Given the description of an element on the screen output the (x, y) to click on. 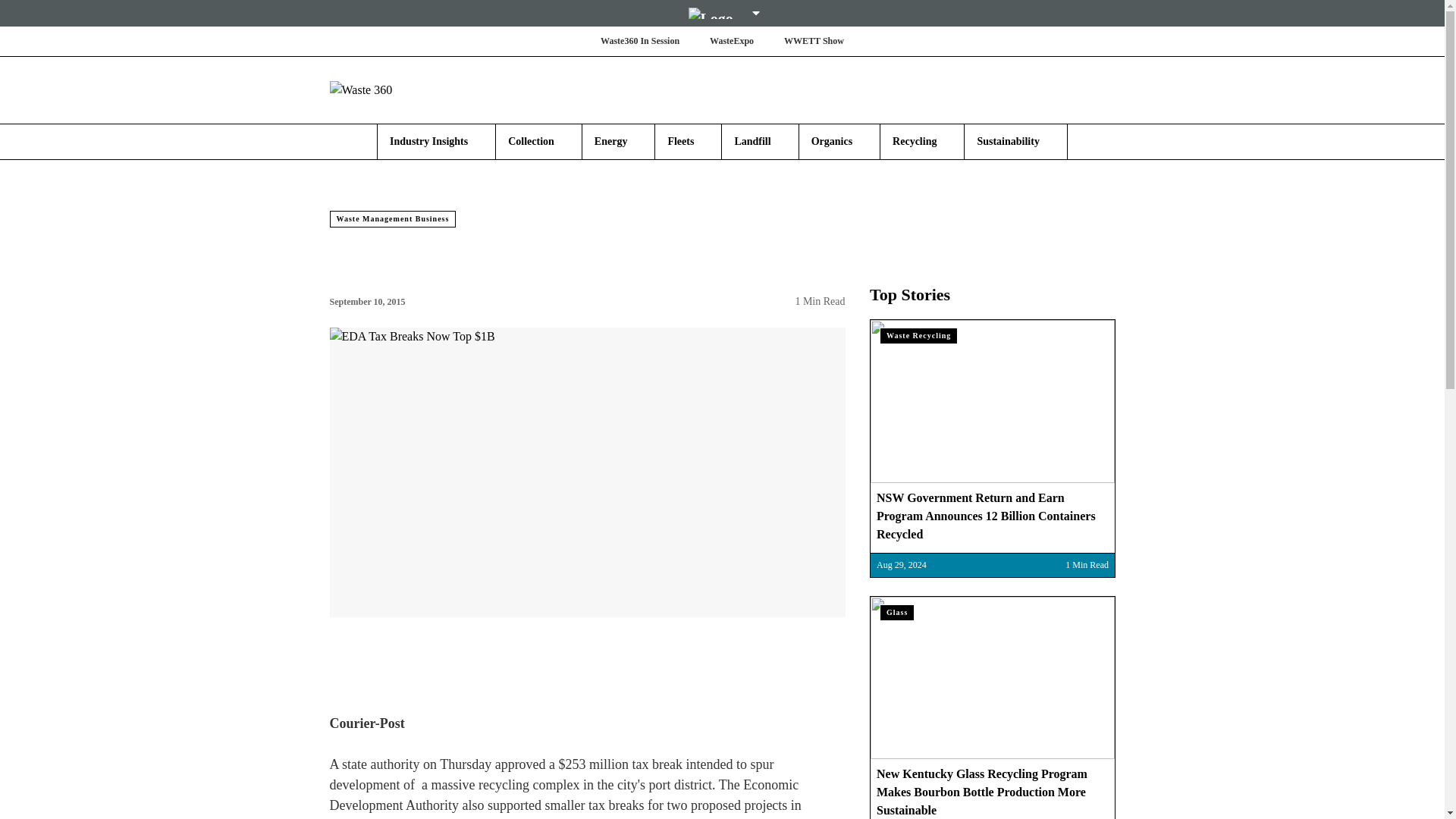
WasteExpo (731, 41)
Waste 360 (419, 90)
WWETT Show (813, 41)
Waste360 In Session (639, 41)
